Given the description of an element on the screen output the (x, y) to click on. 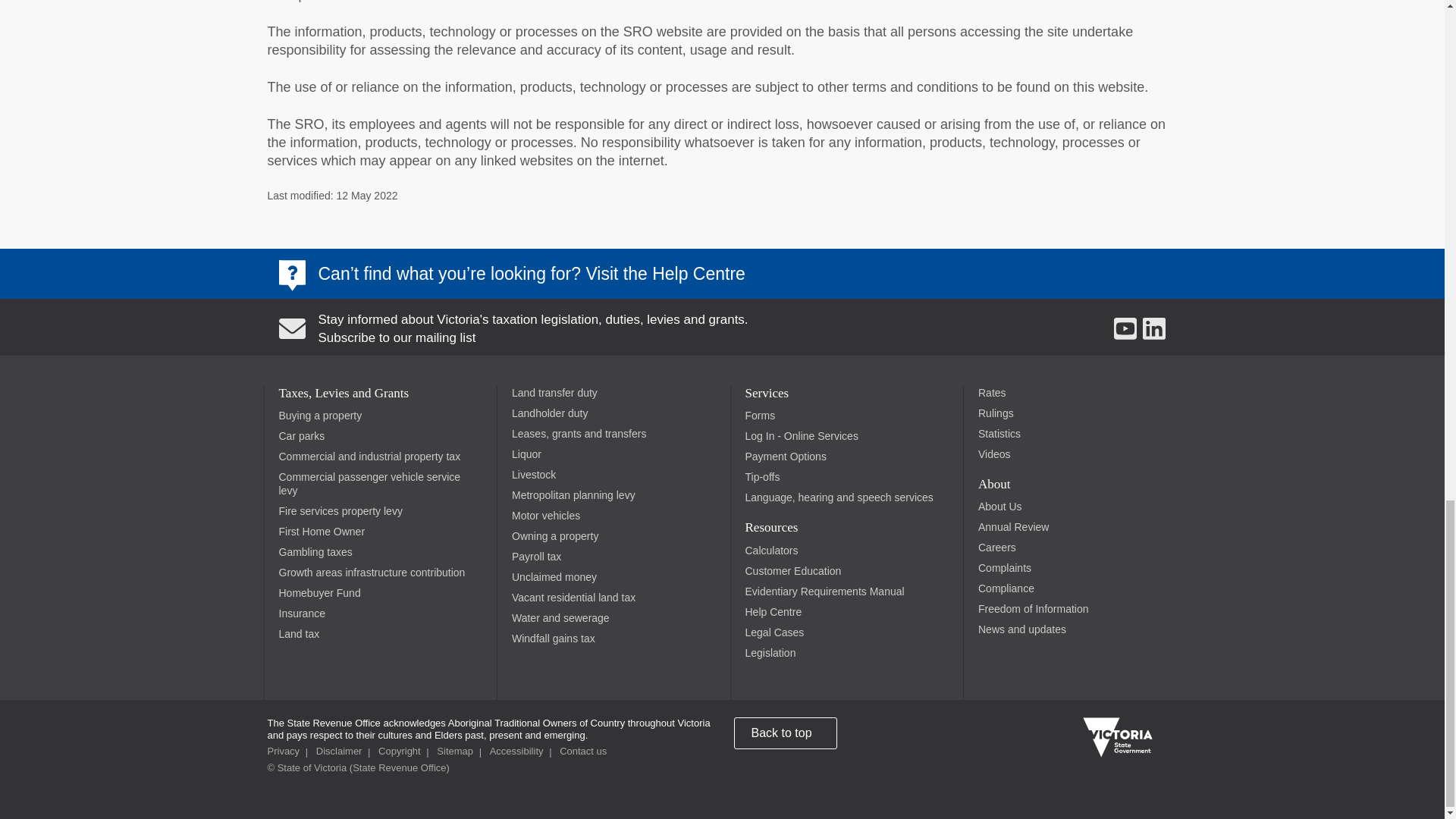
State Revenue Office Victoria (357, 767)
back to top of page (785, 733)
Gambling taxes (315, 552)
